Given the description of an element on the screen output the (x, y) to click on. 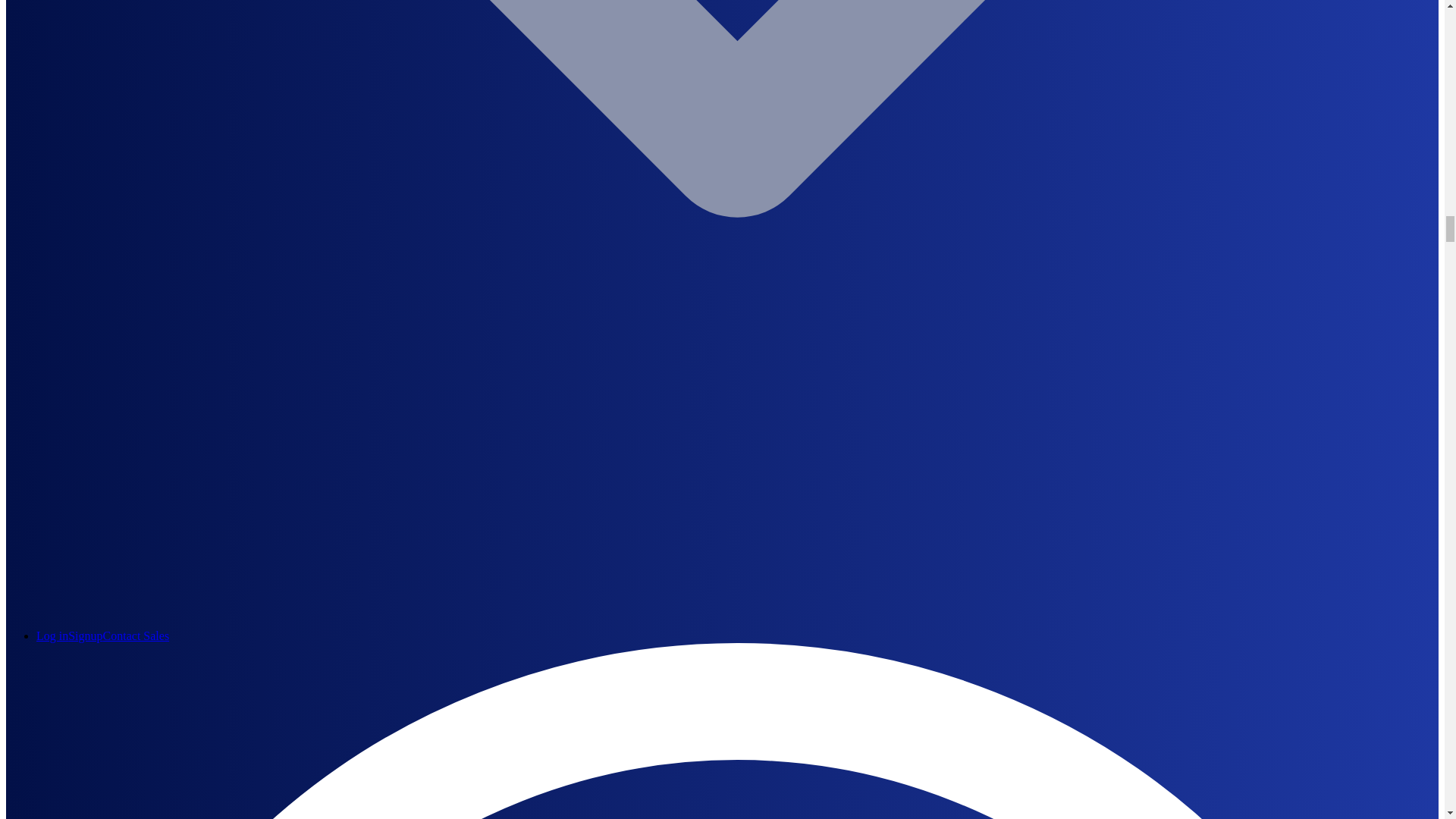
Contact Sales (136, 635)
Signup (84, 635)
Log in (52, 635)
